Given the description of an element on the screen output the (x, y) to click on. 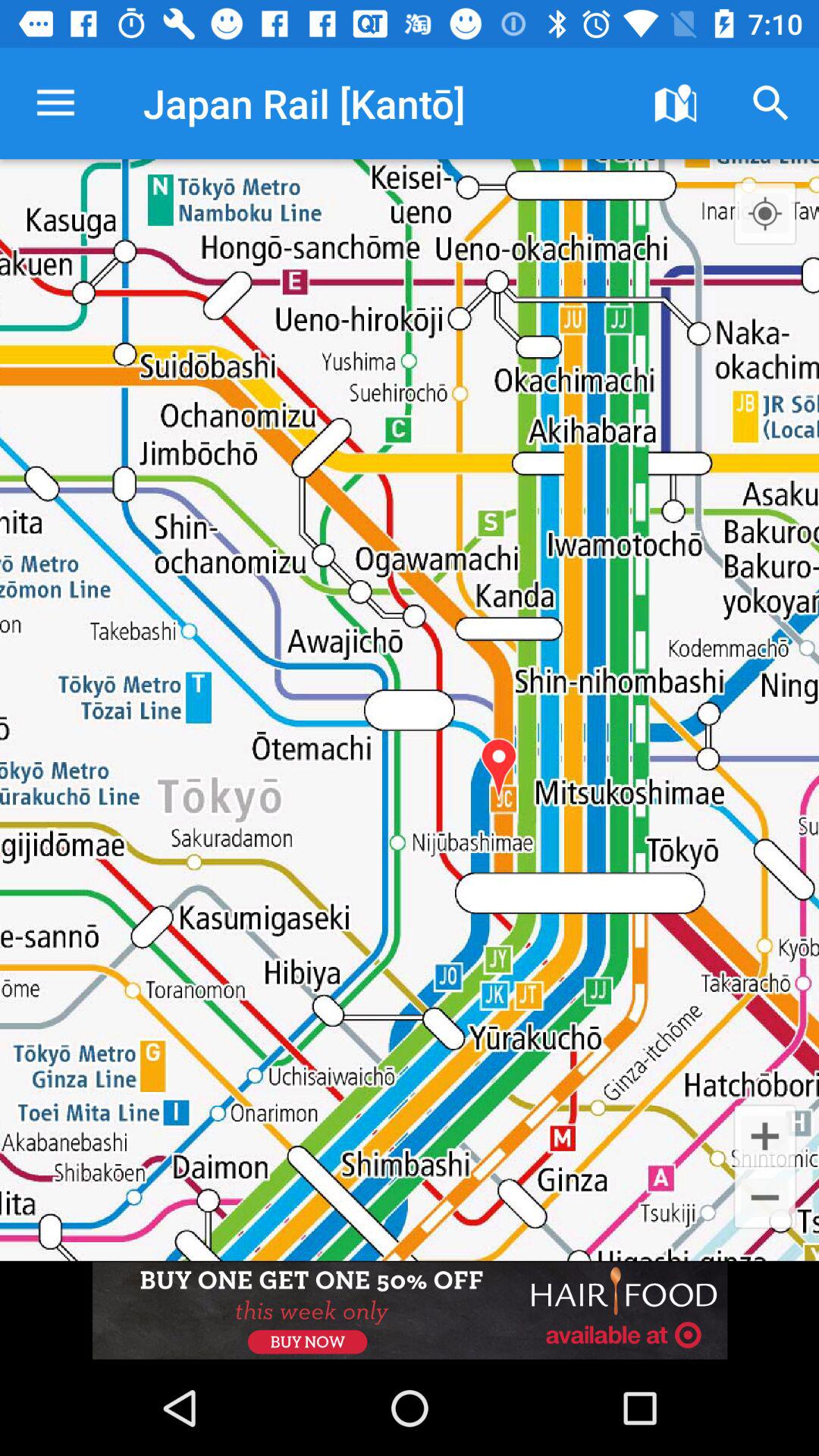
click to zoom (764, 213)
